Given the description of an element on the screen output the (x, y) to click on. 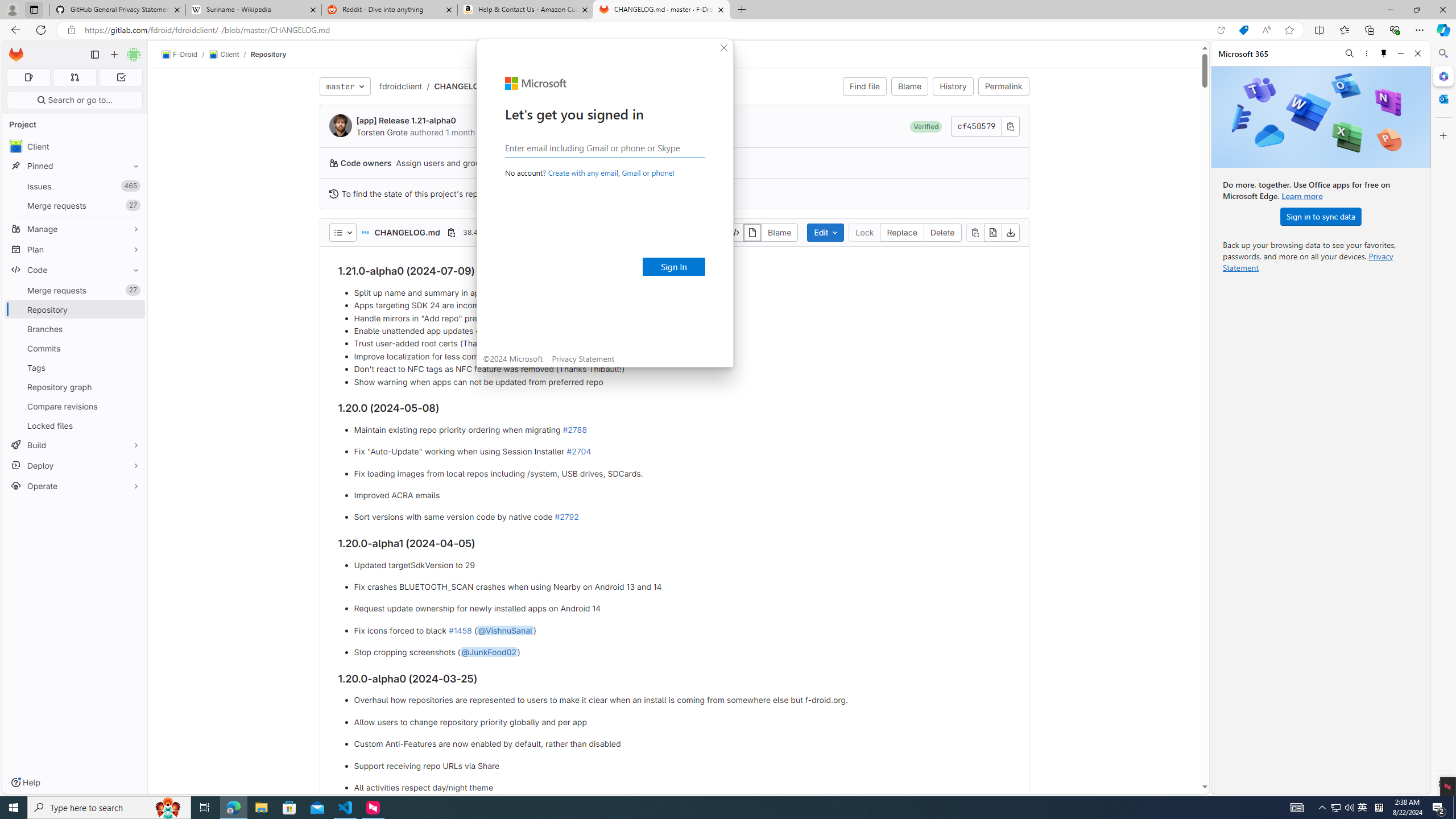
Sort versions with same version code by native code #2792 (681, 517)
AutomationID: dropdown-toggle-btn-50 (342, 232)
Copilot (Ctrl+Shift+.) (1442, 29)
Repository (268, 53)
Unpin side pane (1383, 53)
Torsten Grote's avatar (340, 125)
AutomationID: 4105 (1297, 807)
Pinned (74, 165)
Support receiving repo URLs via Share (681, 765)
GitHub General Privacy Statement - GitHub Docs (117, 9)
Edit (825, 232)
Compare revisions (74, 406)
Pin Locked files (132, 425)
#2788 (574, 429)
Reddit - Dive into anything (390, 9)
